Given the description of an element on the screen output the (x, y) to click on. 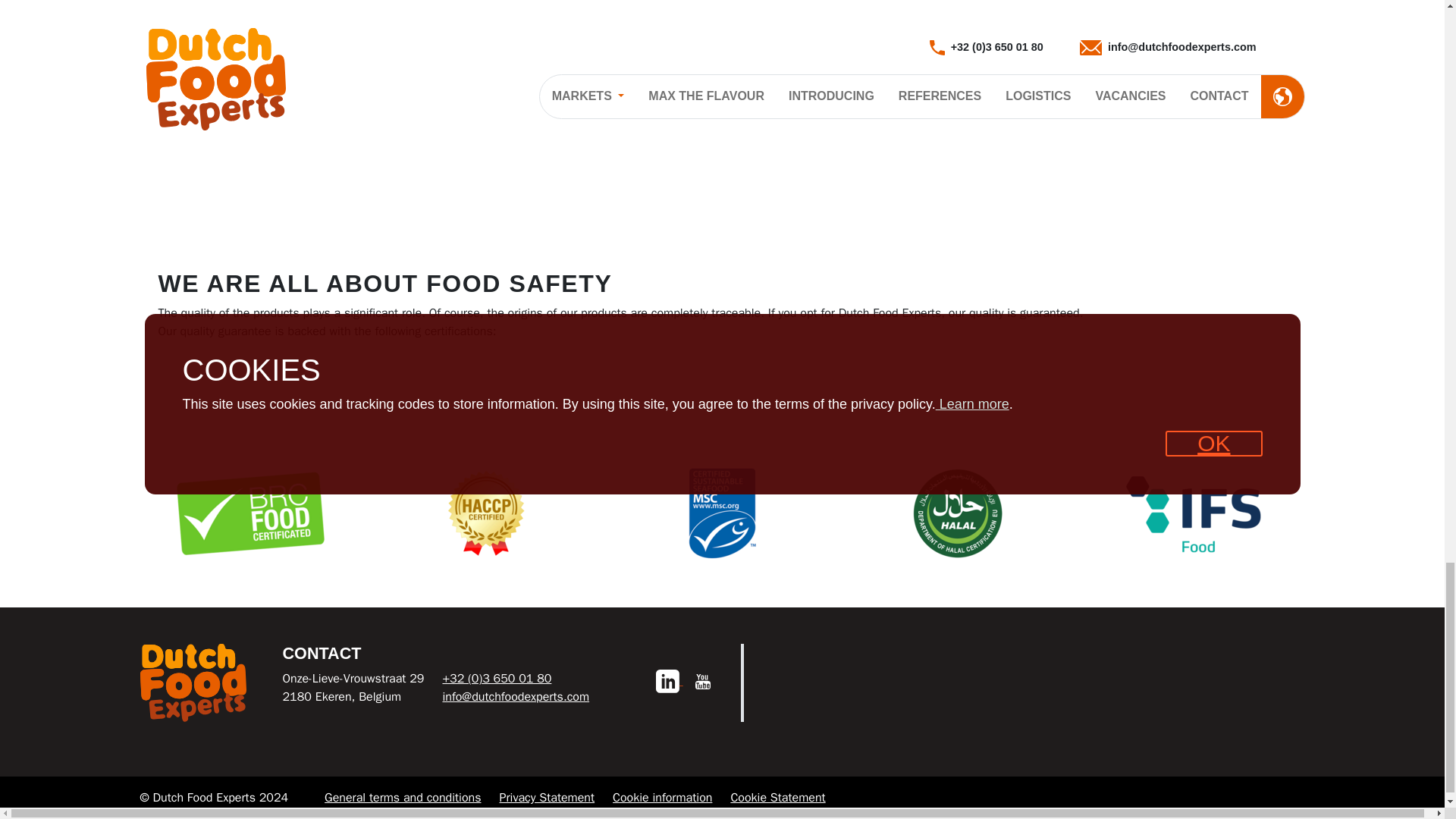
Cookie Statement (777, 797)
CONTACT US (631, 84)
CONTACT US (1030, 84)
General terms and conditions (402, 797)
CONTACT US (234, 103)
Youtube (702, 680)
Privacy Statement (546, 797)
Cookie information (661, 797)
Linkedin (669, 680)
